Given the description of an element on the screen output the (x, y) to click on. 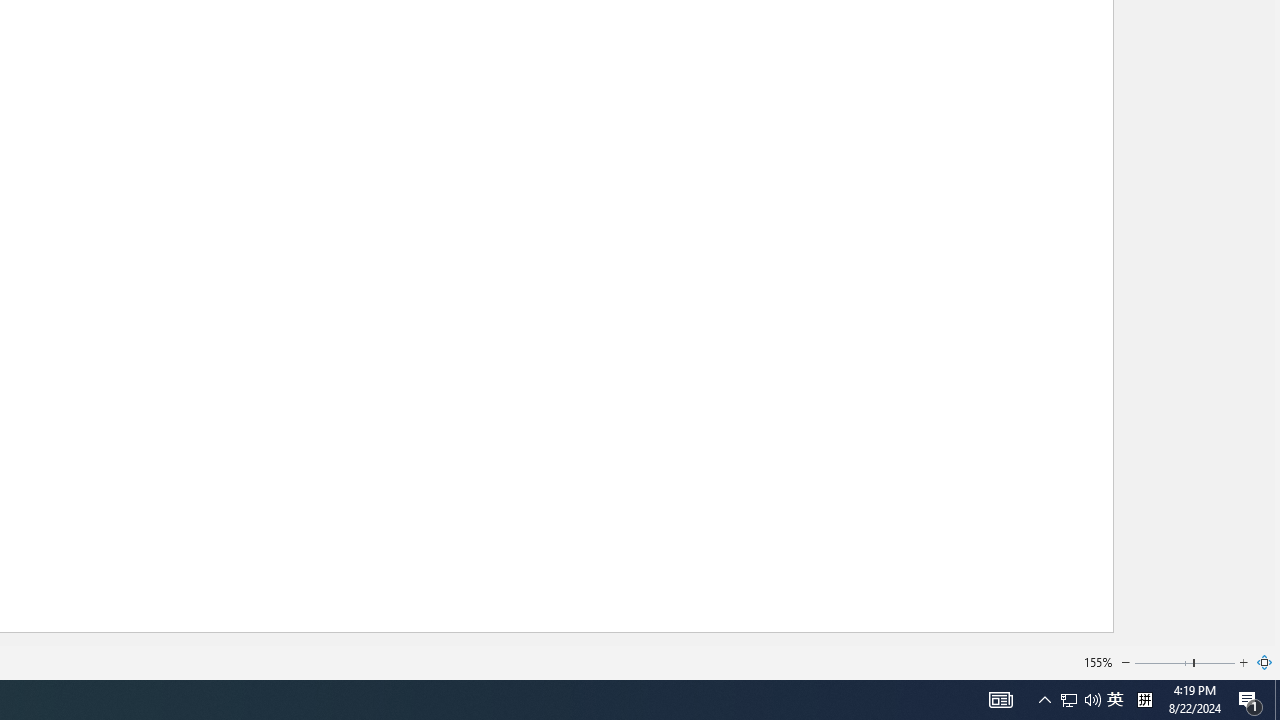
155% (1098, 662)
